Given the description of an element on the screen output the (x, y) to click on. 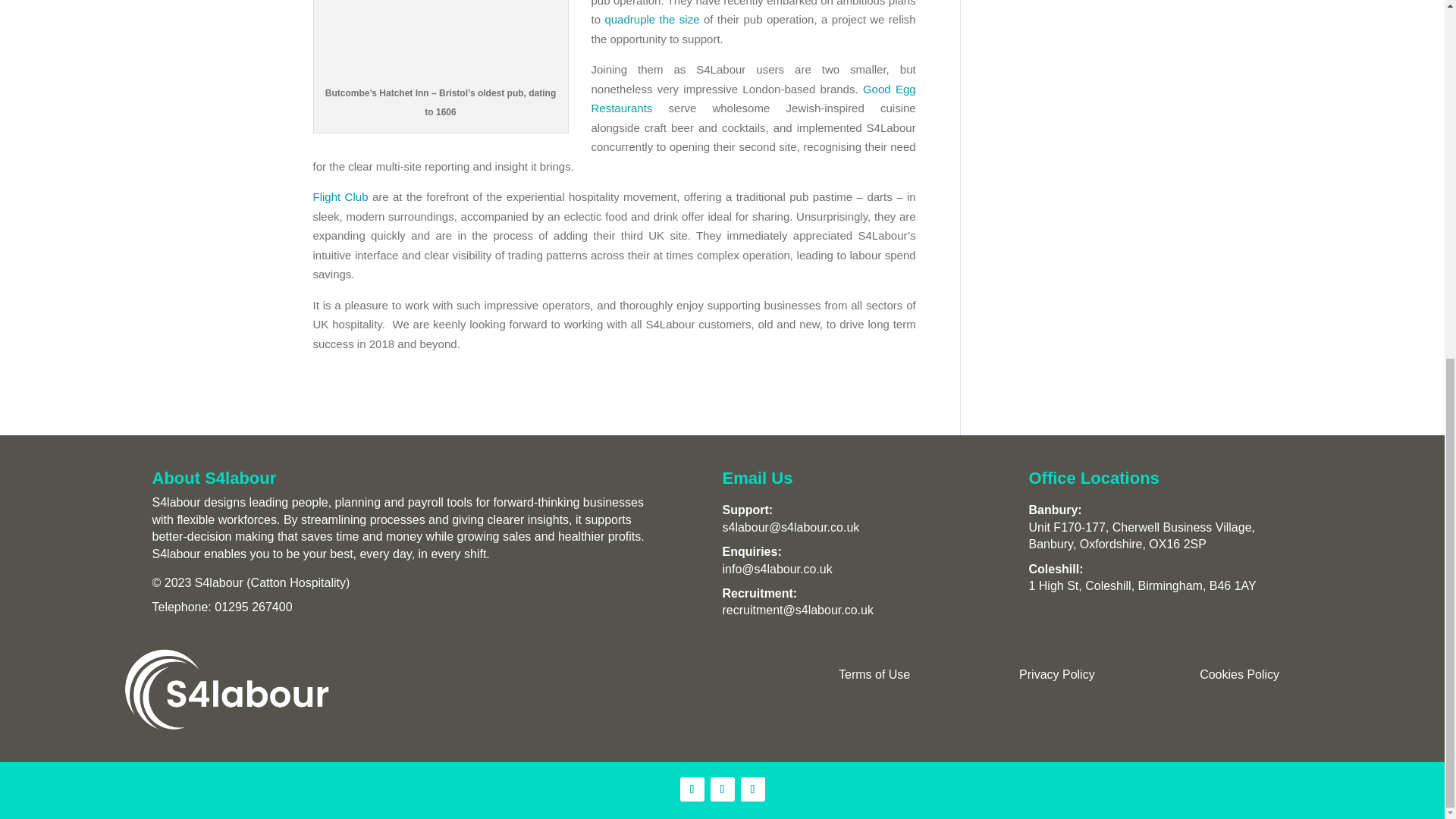
Follow on LinkedIn (691, 789)
Follow on Twitter (721, 789)
Follow on Facebook (751, 789)
S4labour - Core Logo FULL WHITE (226, 690)
